Given the description of an element on the screen output the (x, y) to click on. 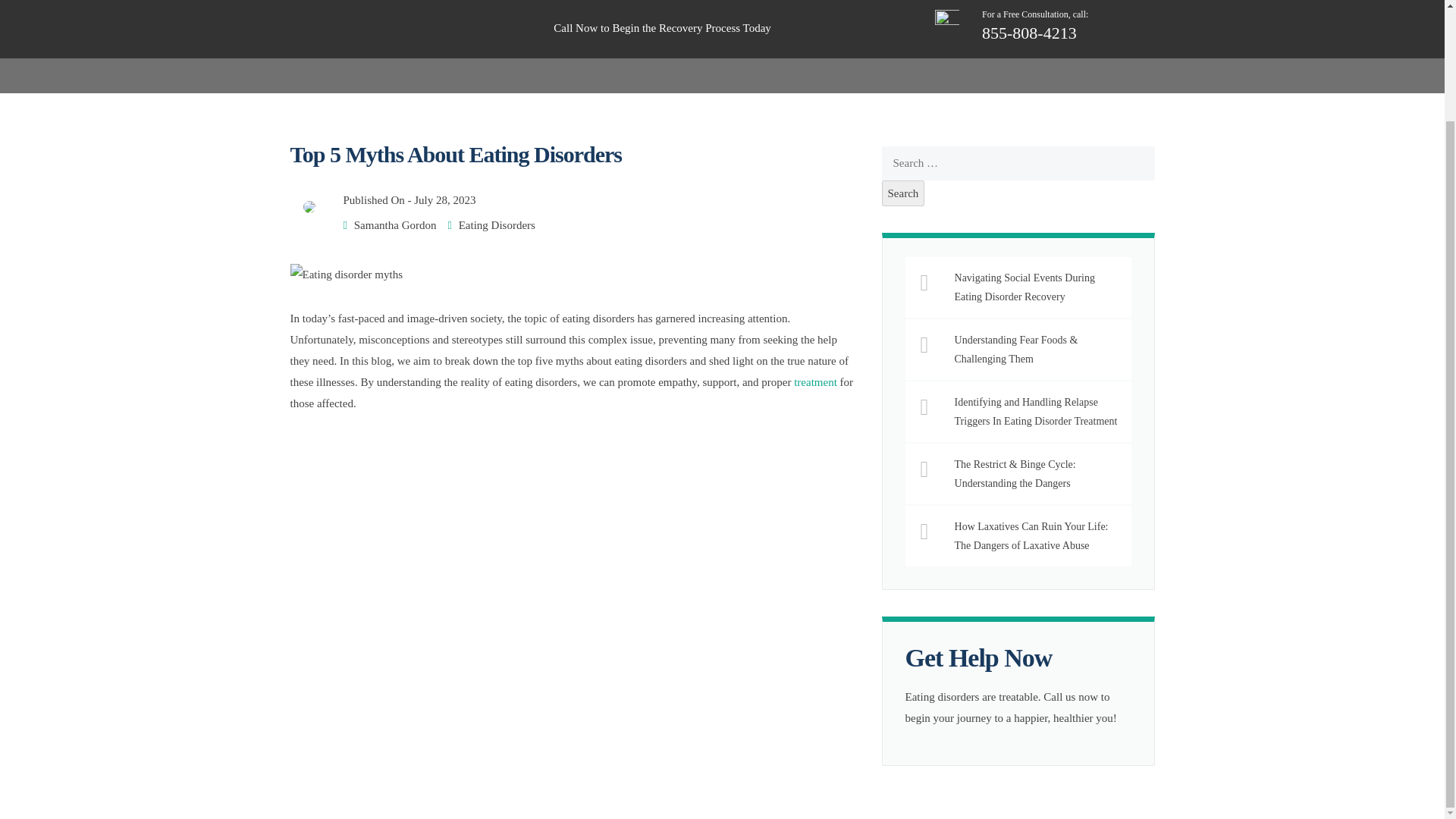
Search (903, 193)
Search (903, 193)
